Given the description of an element on the screen output the (x, y) to click on. 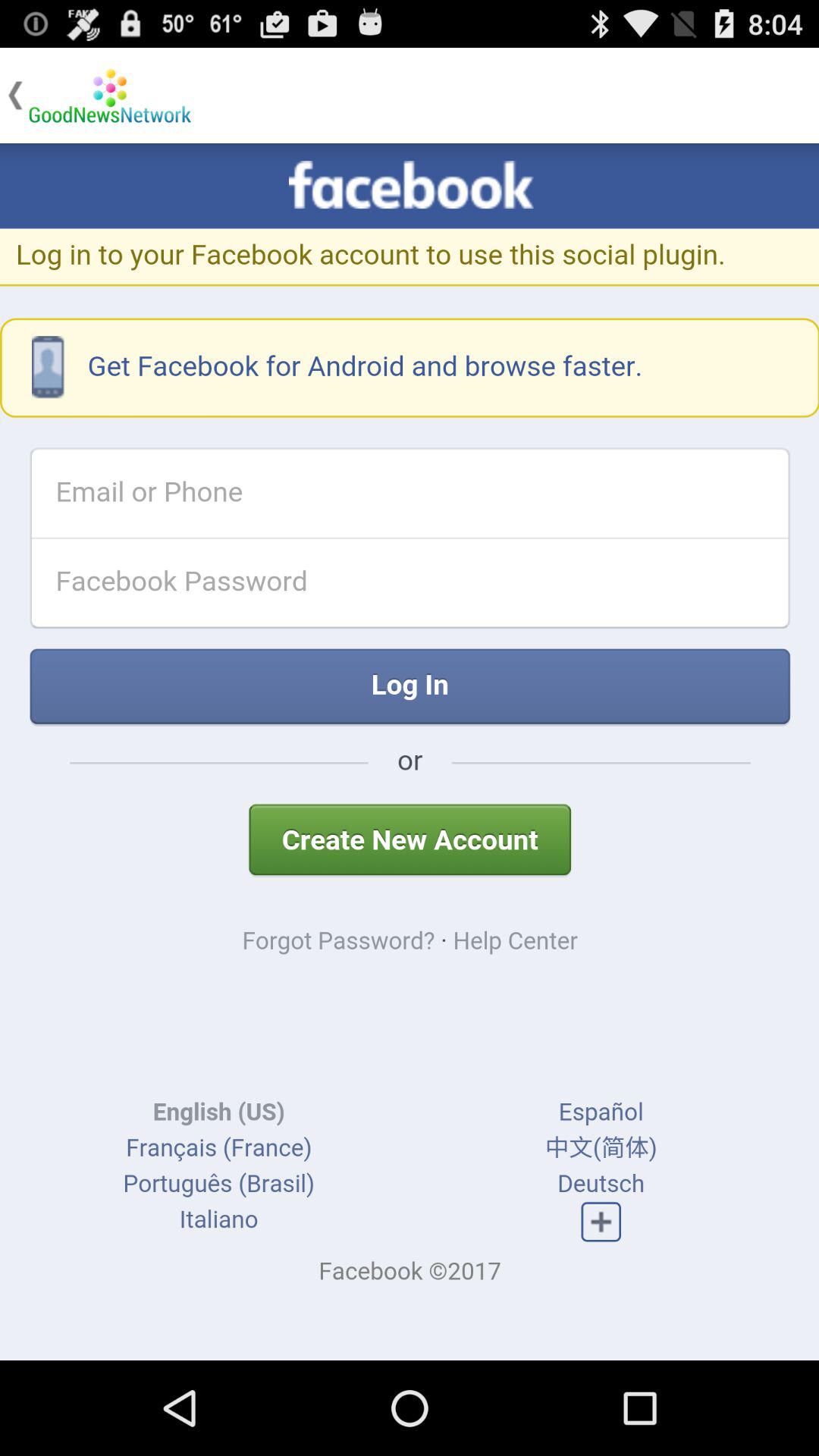
facebook home screen (409, 751)
